Given the description of an element on the screen output the (x, y) to click on. 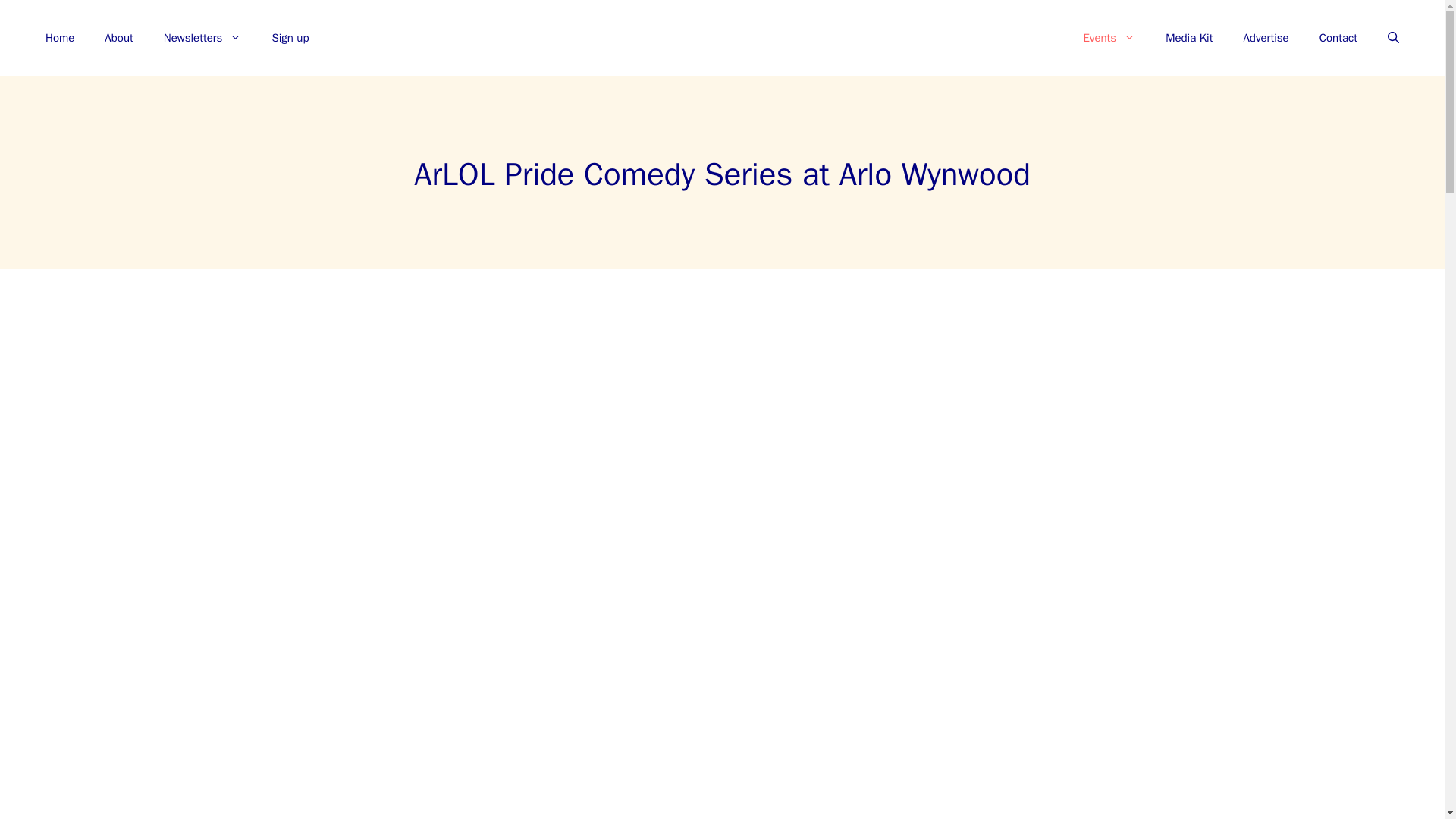
Menu Item Separator (696, 37)
About (118, 37)
Home (59, 37)
Contact (1338, 37)
Media Kit (1188, 37)
Newsletters (202, 37)
Events (1108, 37)
Sign up (289, 37)
Advertise (1265, 37)
